Given the description of an element on the screen output the (x, y) to click on. 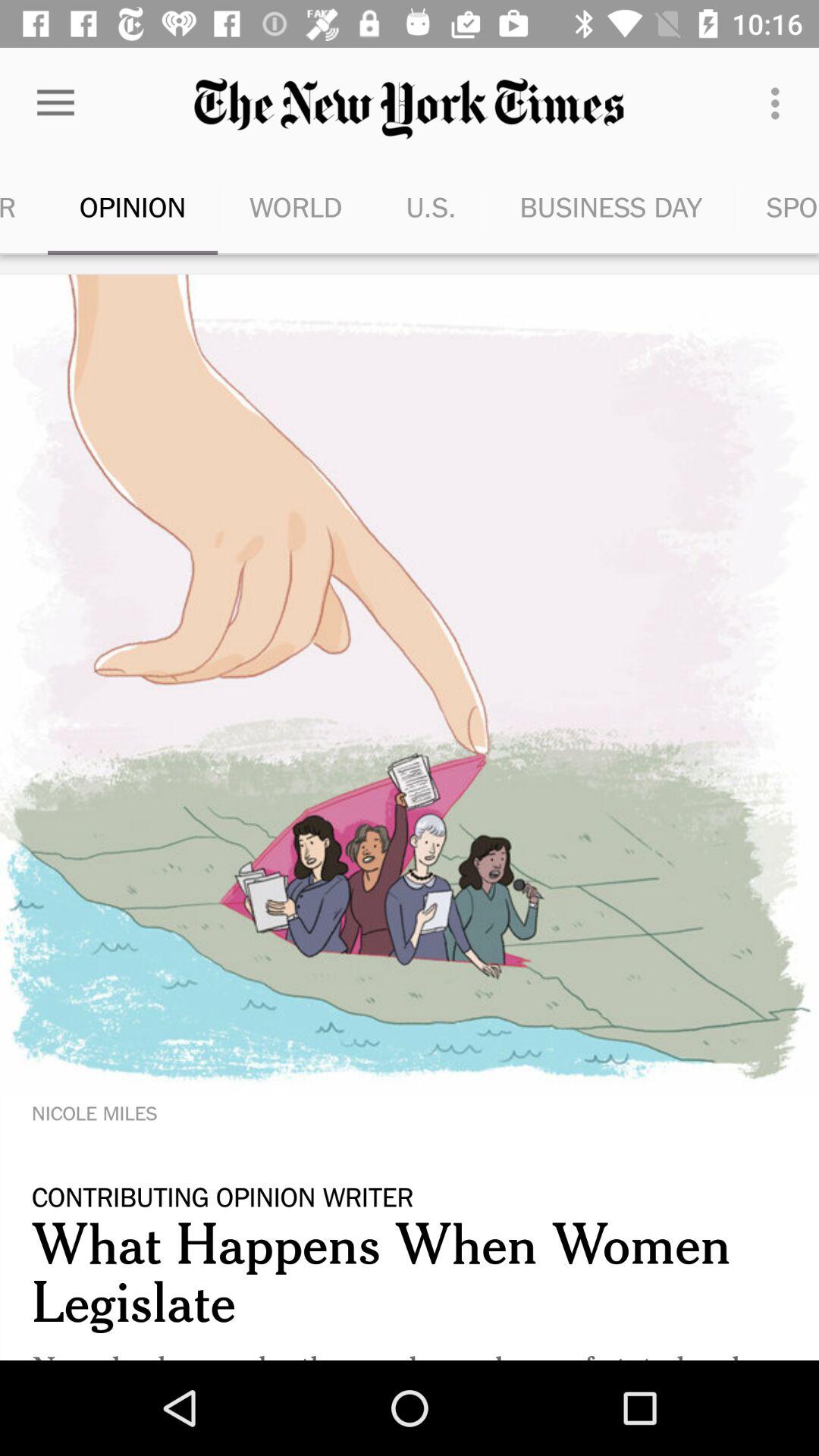
choose icon next to the u.s. icon (610, 206)
